Given the description of an element on the screen output the (x, y) to click on. 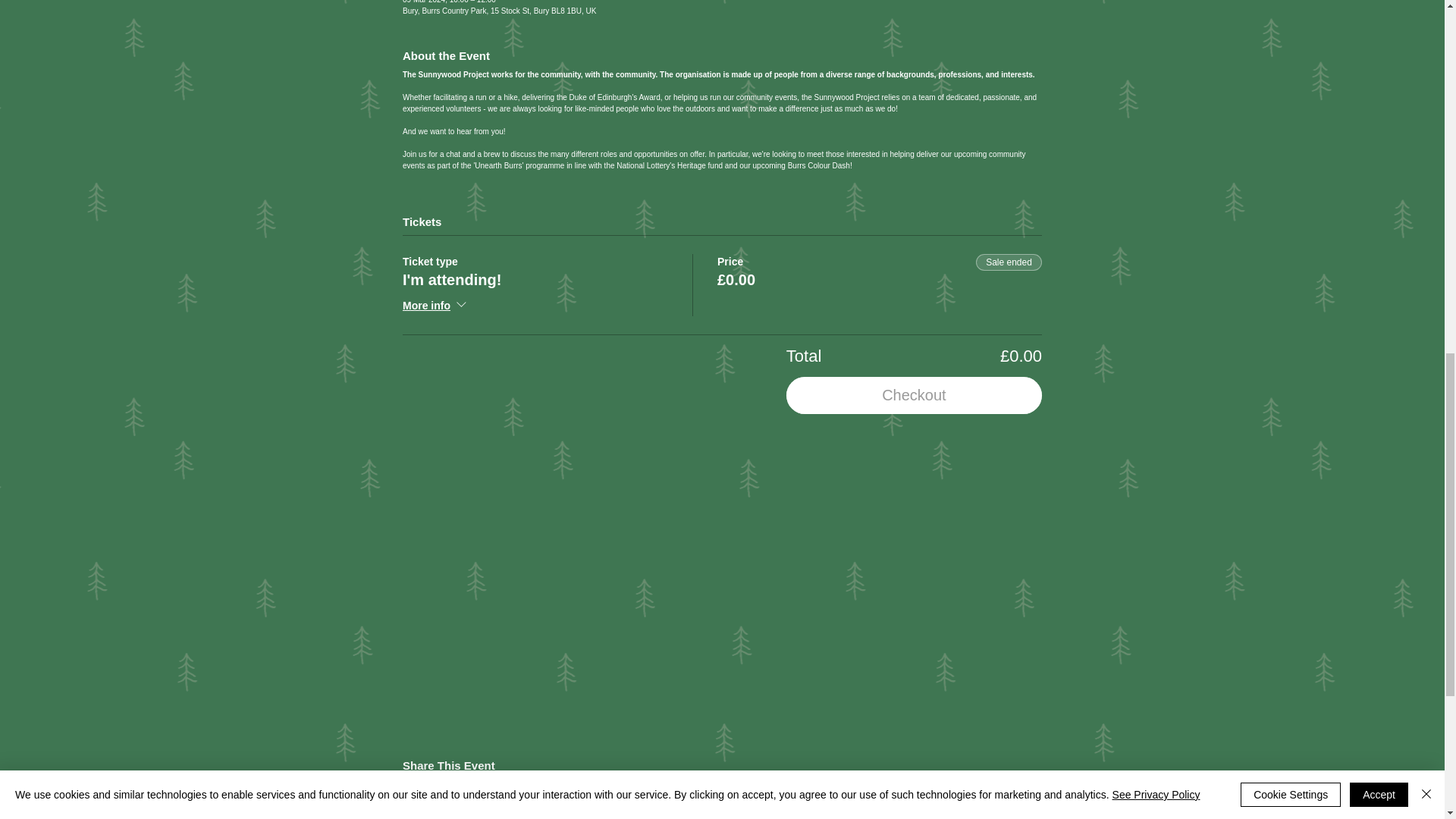
More info (435, 306)
Checkout (914, 395)
